Given the description of an element on the screen output the (x, y) to click on. 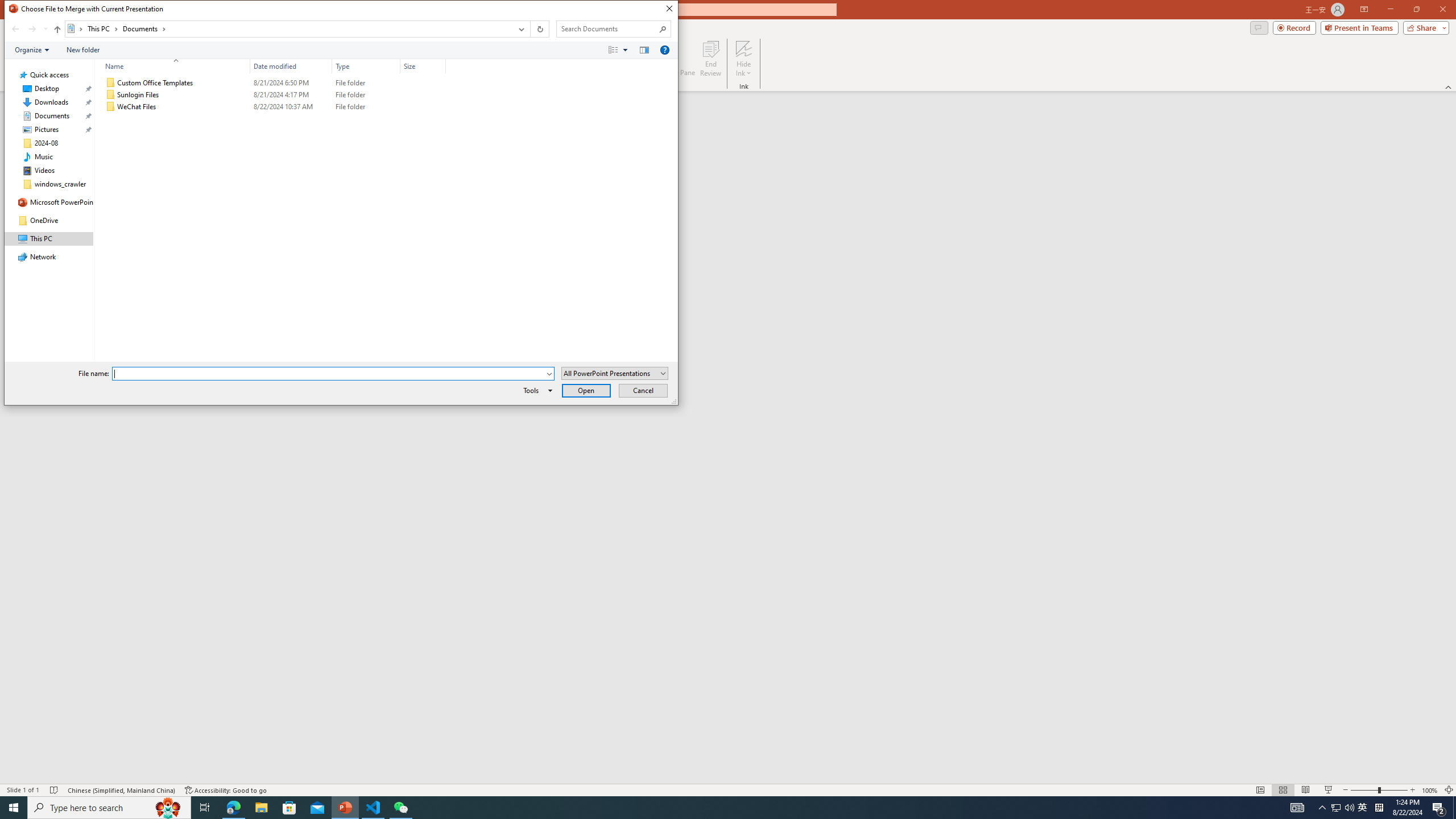
Accessibility Checker Accessibility: Good to go (226, 790)
Date modified (290, 106)
Tools (535, 390)
File name: (329, 373)
New folder (82, 49)
